Given the description of an element on the screen output the (x, y) to click on. 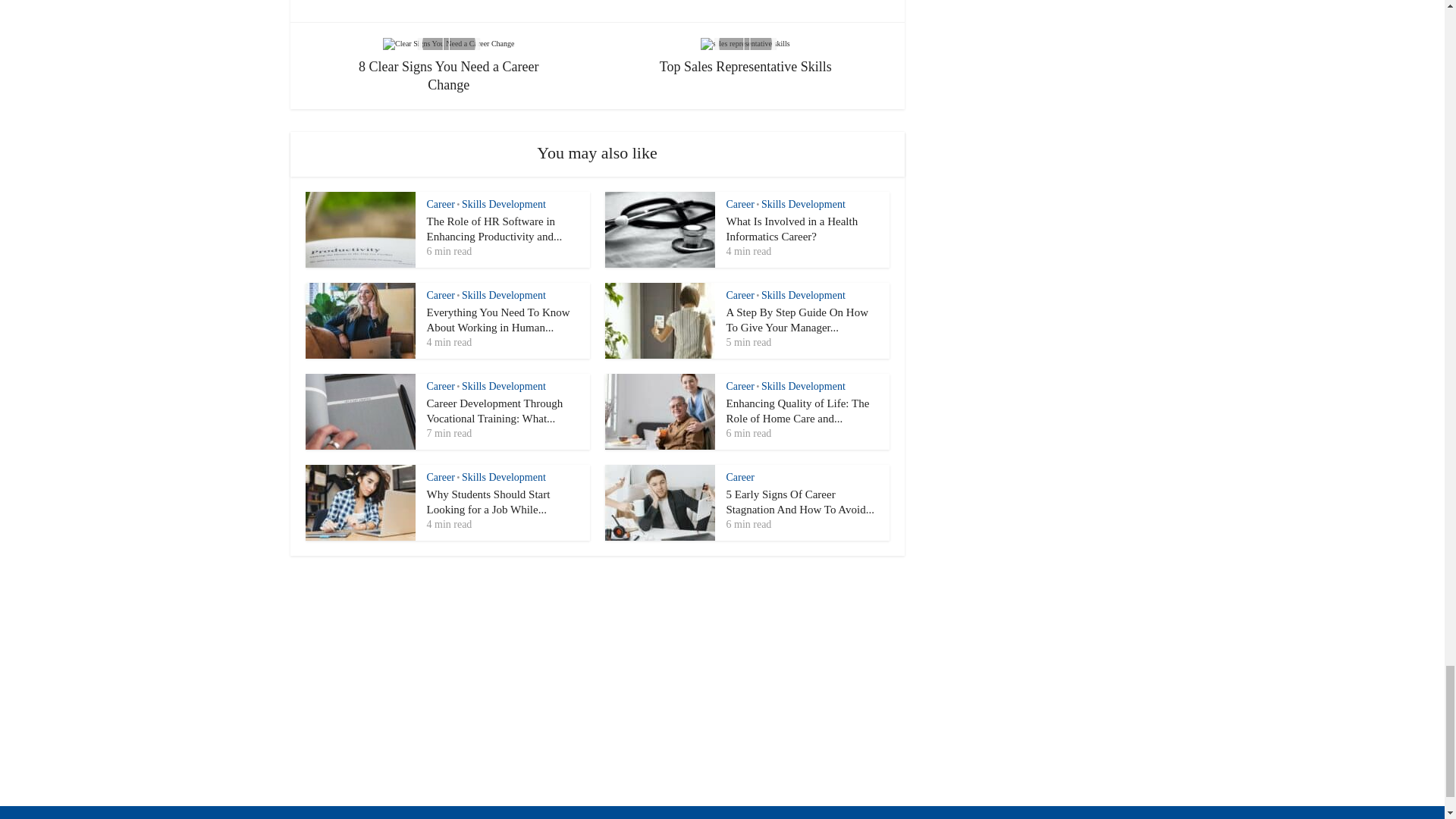
What Is Involved in a Health Informatics Career? (792, 228)
Everything You Need To Know About Working in Human Resources (497, 319)
Why Students Should Start Looking for a Job While Studying (488, 501)
